Given the description of an element on the screen output the (x, y) to click on. 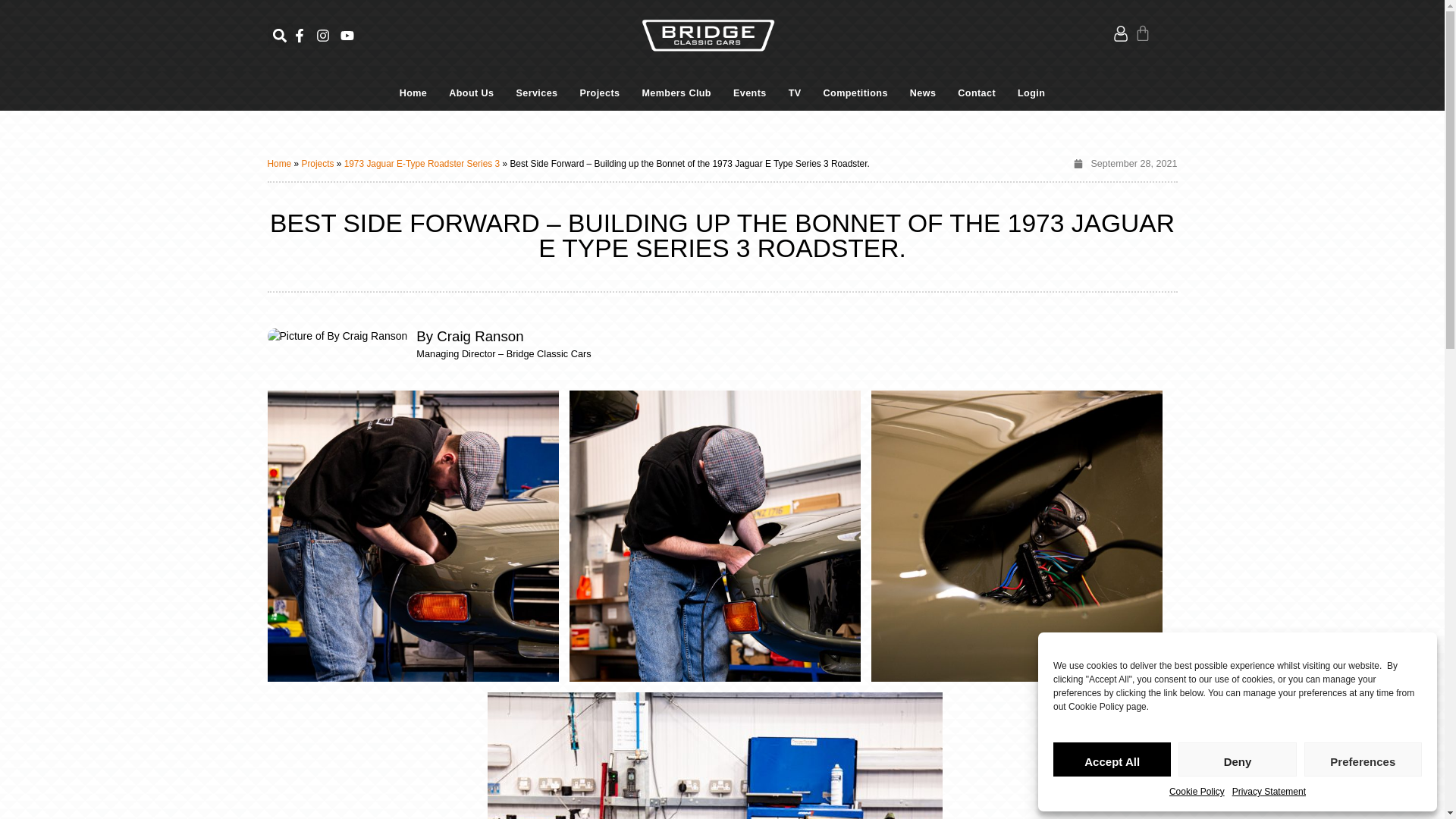
Deny (1236, 759)
Preferences (1363, 759)
Privacy Statement (1268, 791)
Cookie Policy (1196, 791)
Accept All (1111, 759)
